Given the description of an element on the screen output the (x, y) to click on. 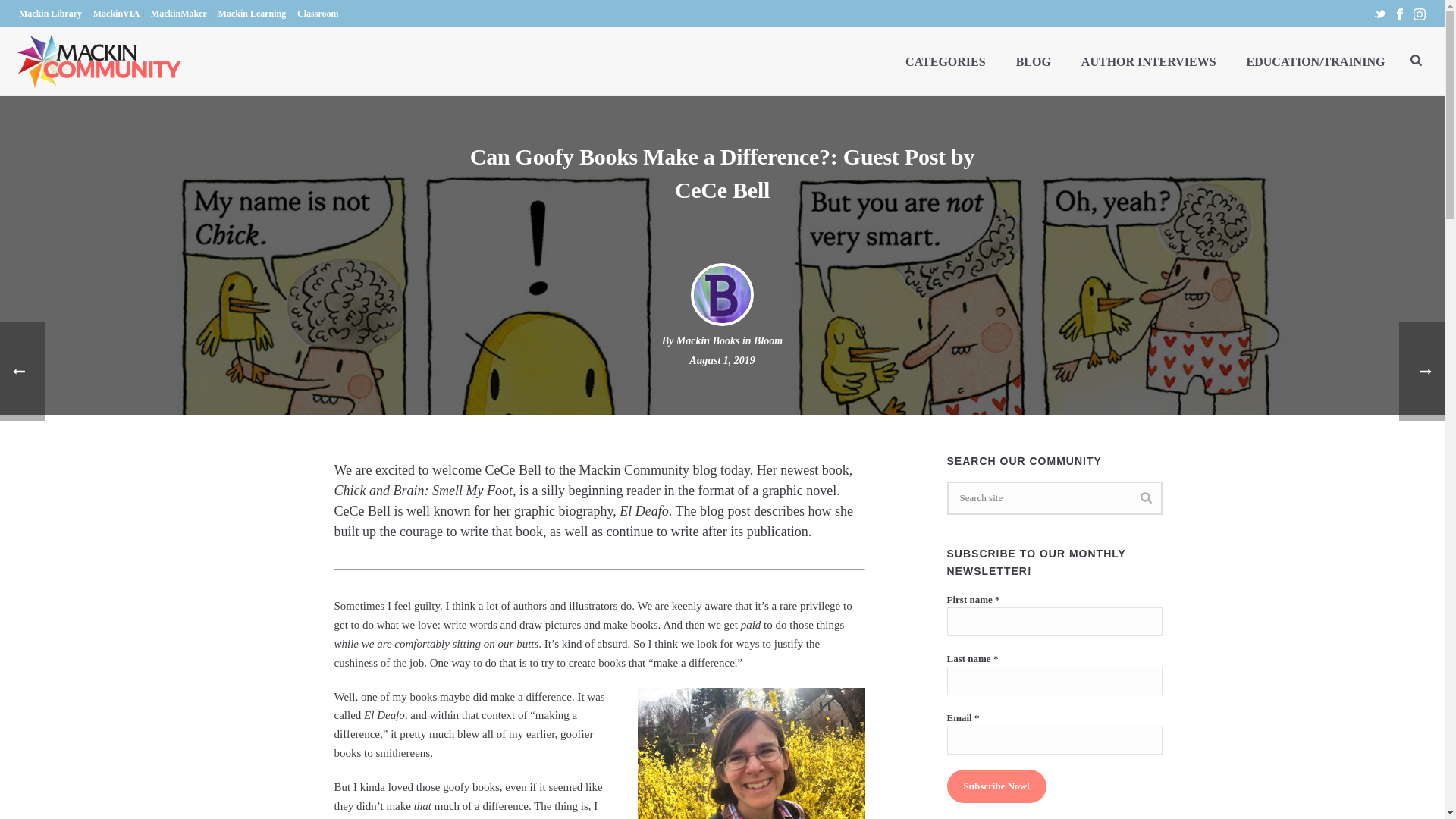
Mackin Library (49, 13)
CATEGORIES (945, 60)
First name (1053, 621)
A place for education, discovery, learning and growth (98, 60)
AUTHOR INTERVIEWS (1148, 60)
Classroom (318, 13)
Subscribe Now! (996, 786)
AUTHOR INTERVIEWS (1148, 60)
MackinVIA (116, 13)
BLOG (1033, 60)
MackinMaker (179, 13)
CATEGORIES (945, 60)
Email (1053, 739)
Last name (1053, 680)
BLOG (1033, 60)
